Given the description of an element on the screen output the (x, y) to click on. 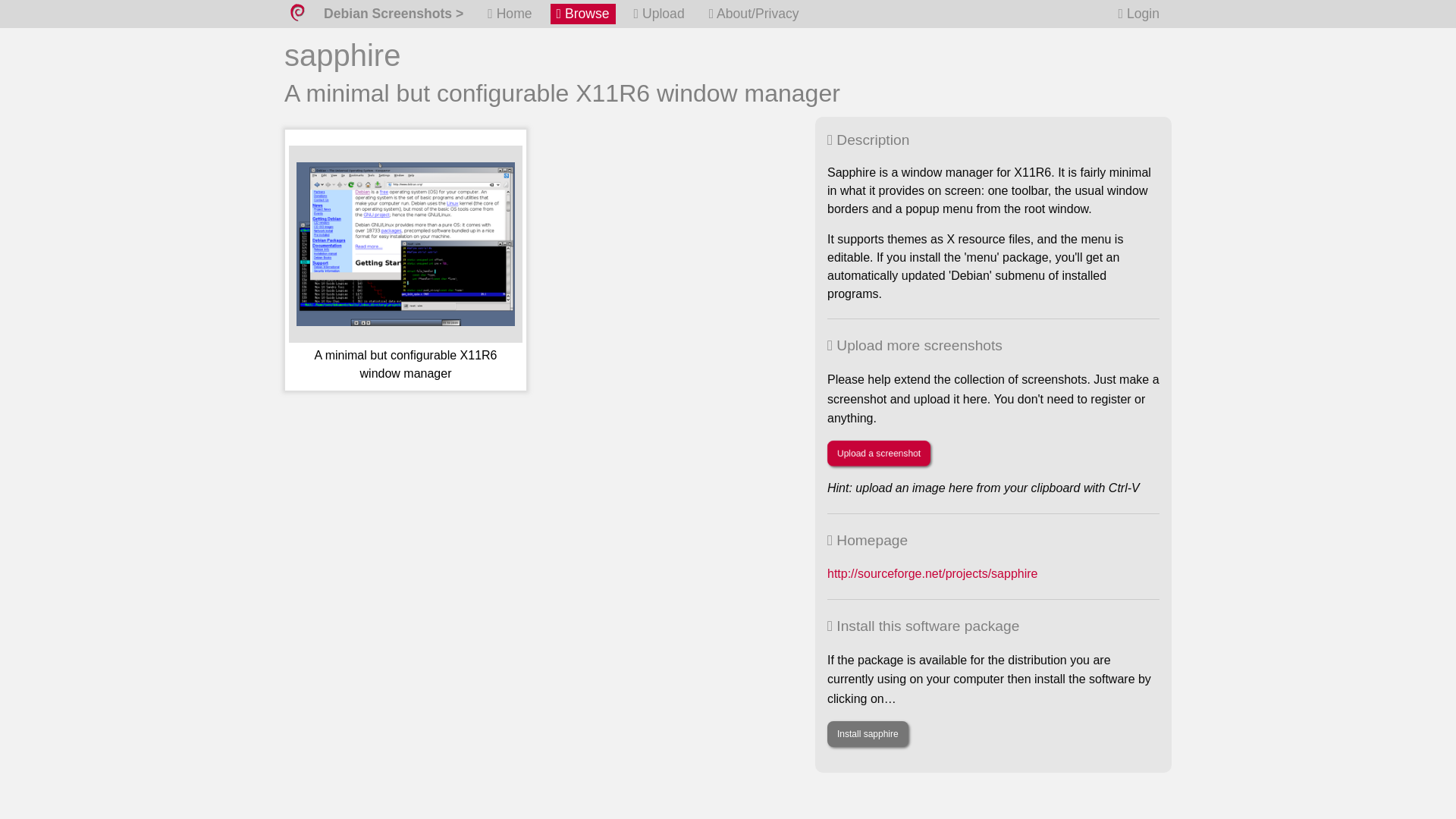
Upload (658, 14)
Browse (582, 14)
Login (1139, 14)
Upload a screenshot (878, 453)
Install sapphire (867, 733)
A minimal but configurable X11R6 window manager (405, 265)
A minimal but configurable X11R6 window manager (405, 265)
Home (509, 14)
